Given the description of an element on the screen output the (x, y) to click on. 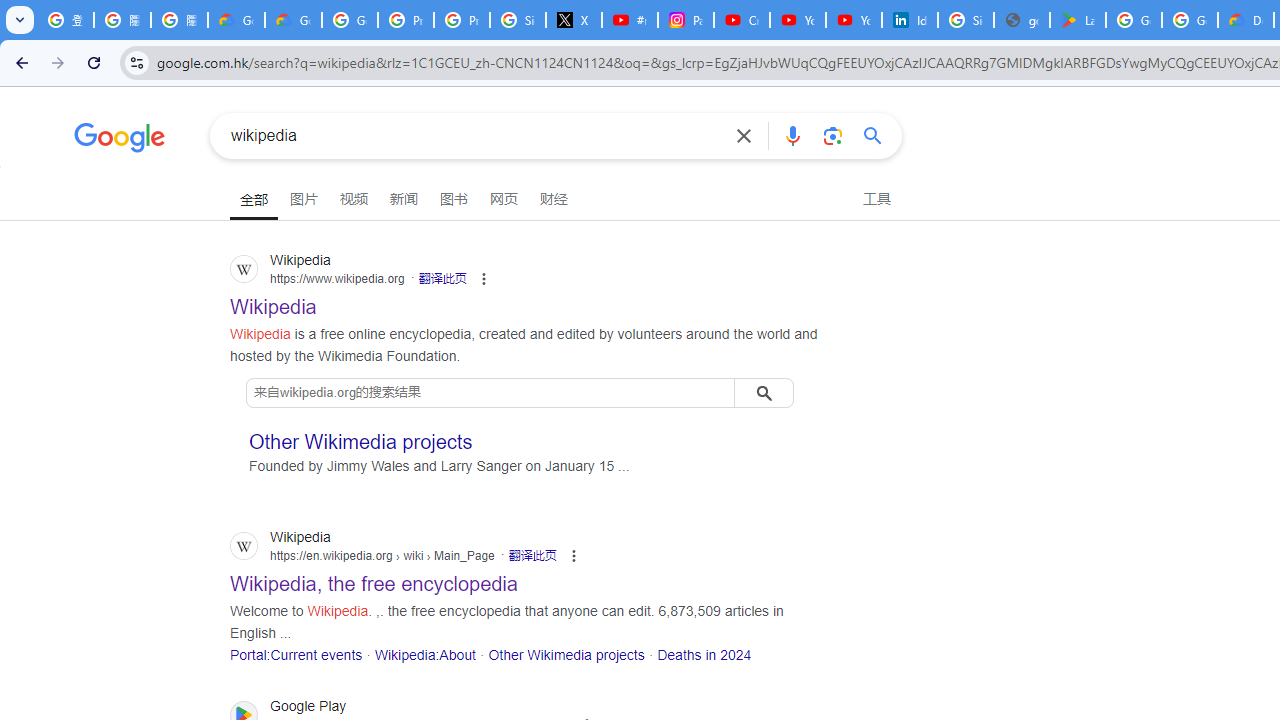
Identity verification via Persona | LinkedIn Help (909, 20)
X (573, 20)
Last Shelter: Survival - Apps on Google Play (1077, 20)
Wikipedia:About (424, 654)
Google Workspace - Specific Terms (1190, 20)
Deaths in 2024 (704, 654)
 Wikipedia Wikipedia https://www.wikipedia.org (273, 300)
